Given the description of an element on the screen output the (x, y) to click on. 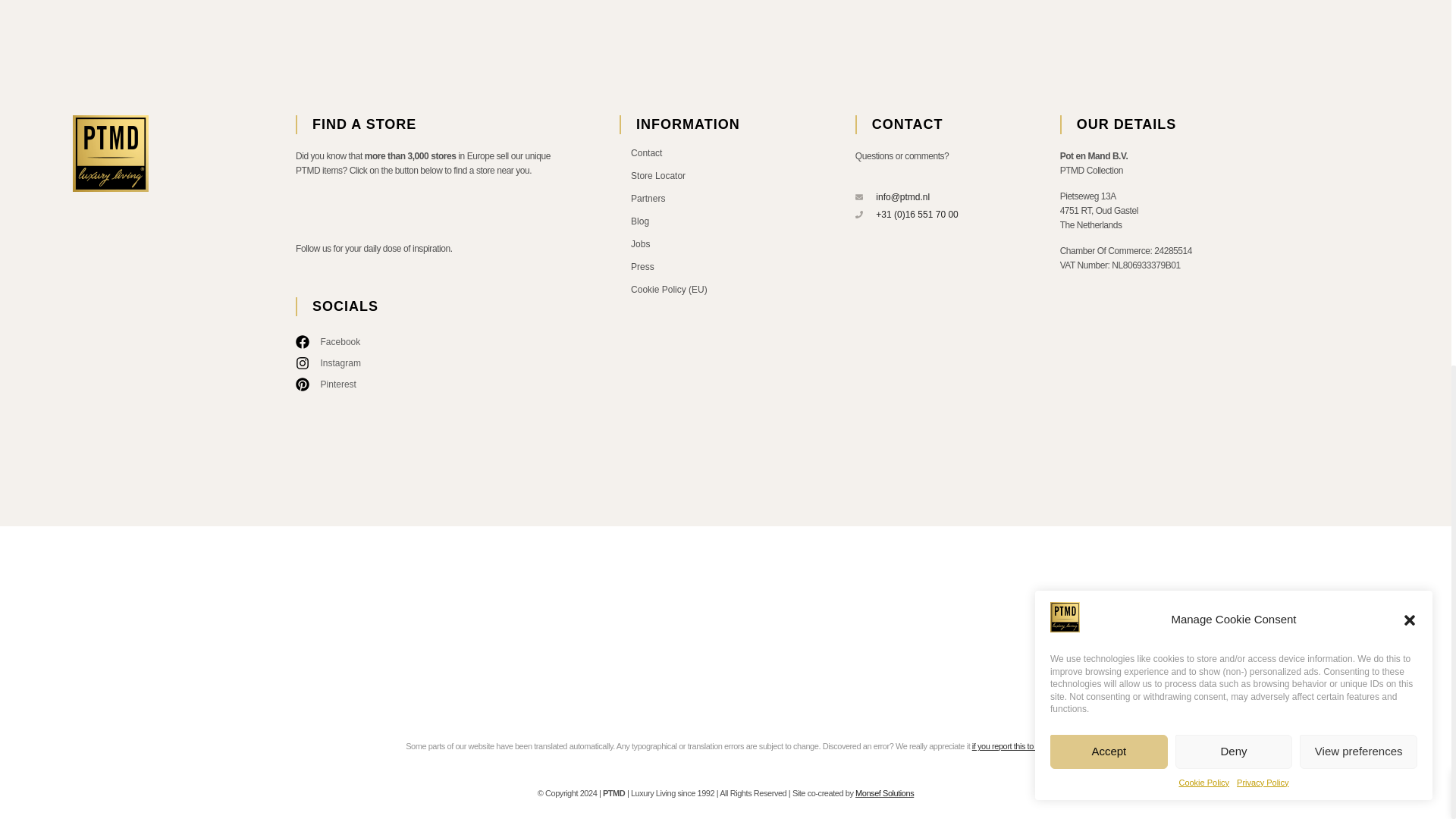
Deny (1233, 91)
Cookie Policy (1202, 123)
View preferences (1358, 91)
Privacy Policy (1262, 123)
Accept (1108, 91)
